Given the description of an element on the screen output the (x, y) to click on. 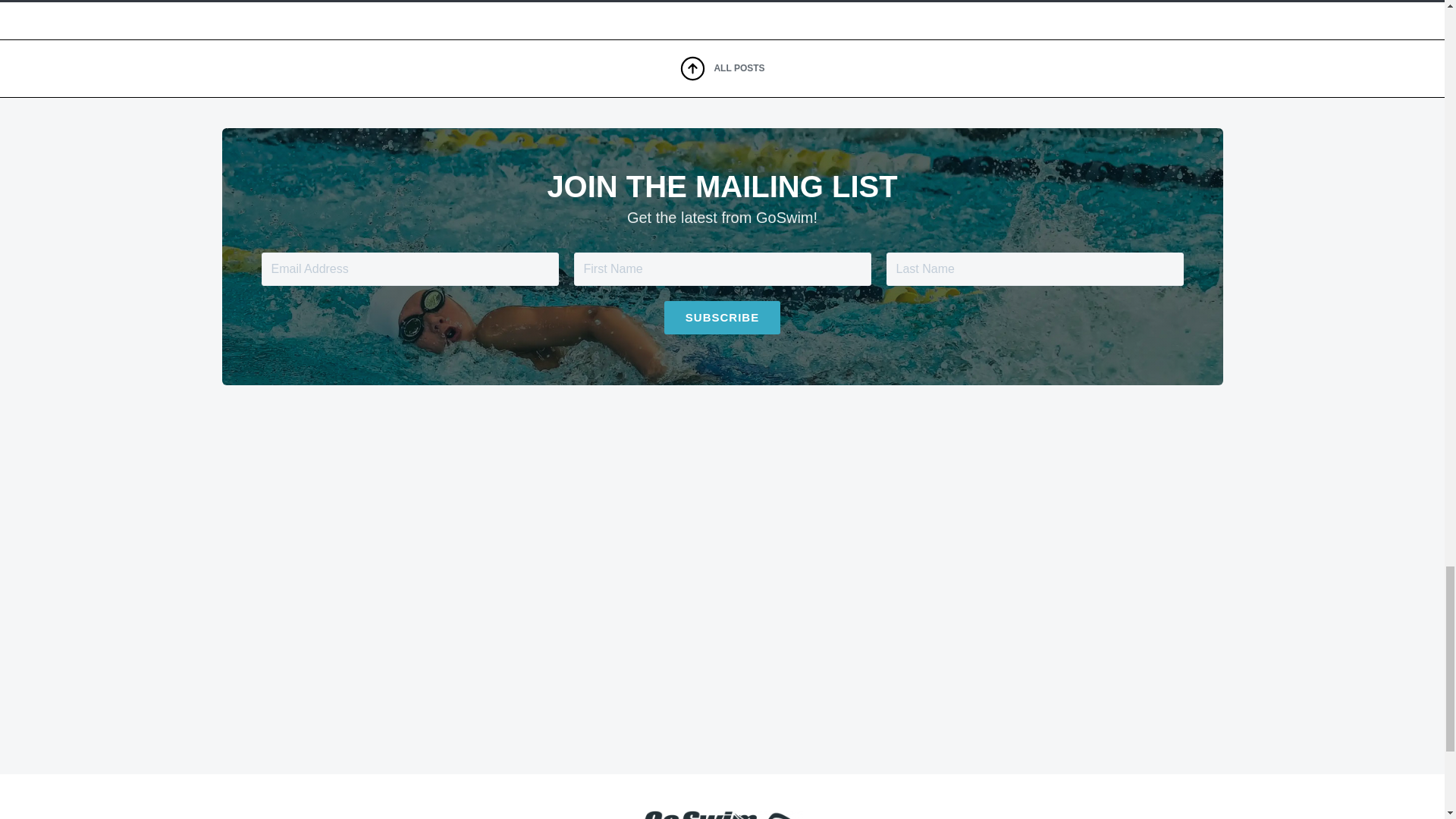
Subscribe (721, 317)
